Given the description of an element on the screen output the (x, y) to click on. 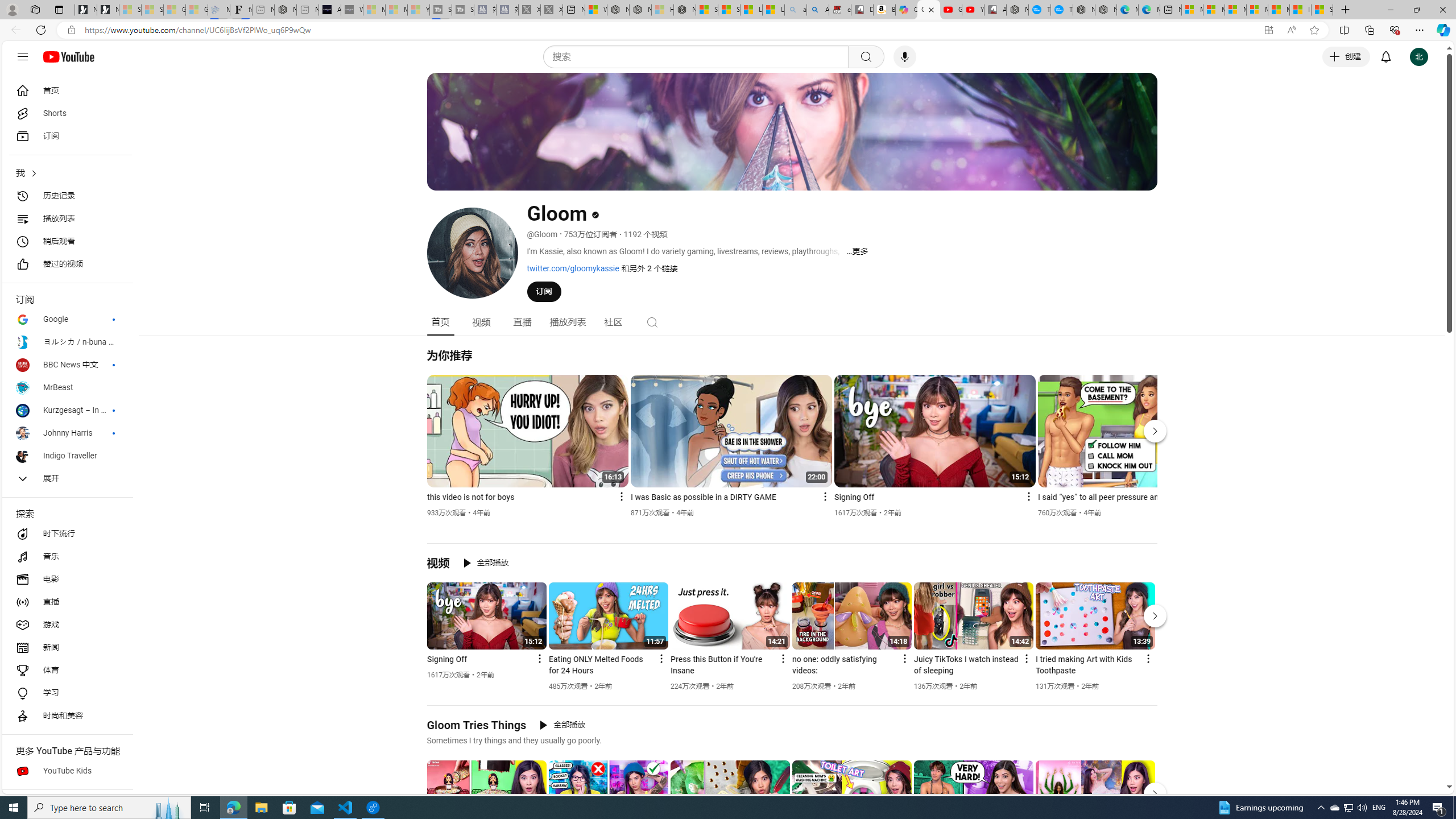
Amazon Echo Dot PNG - Search Images (818, 9)
